Given the description of an element on the screen output the (x, y) to click on. 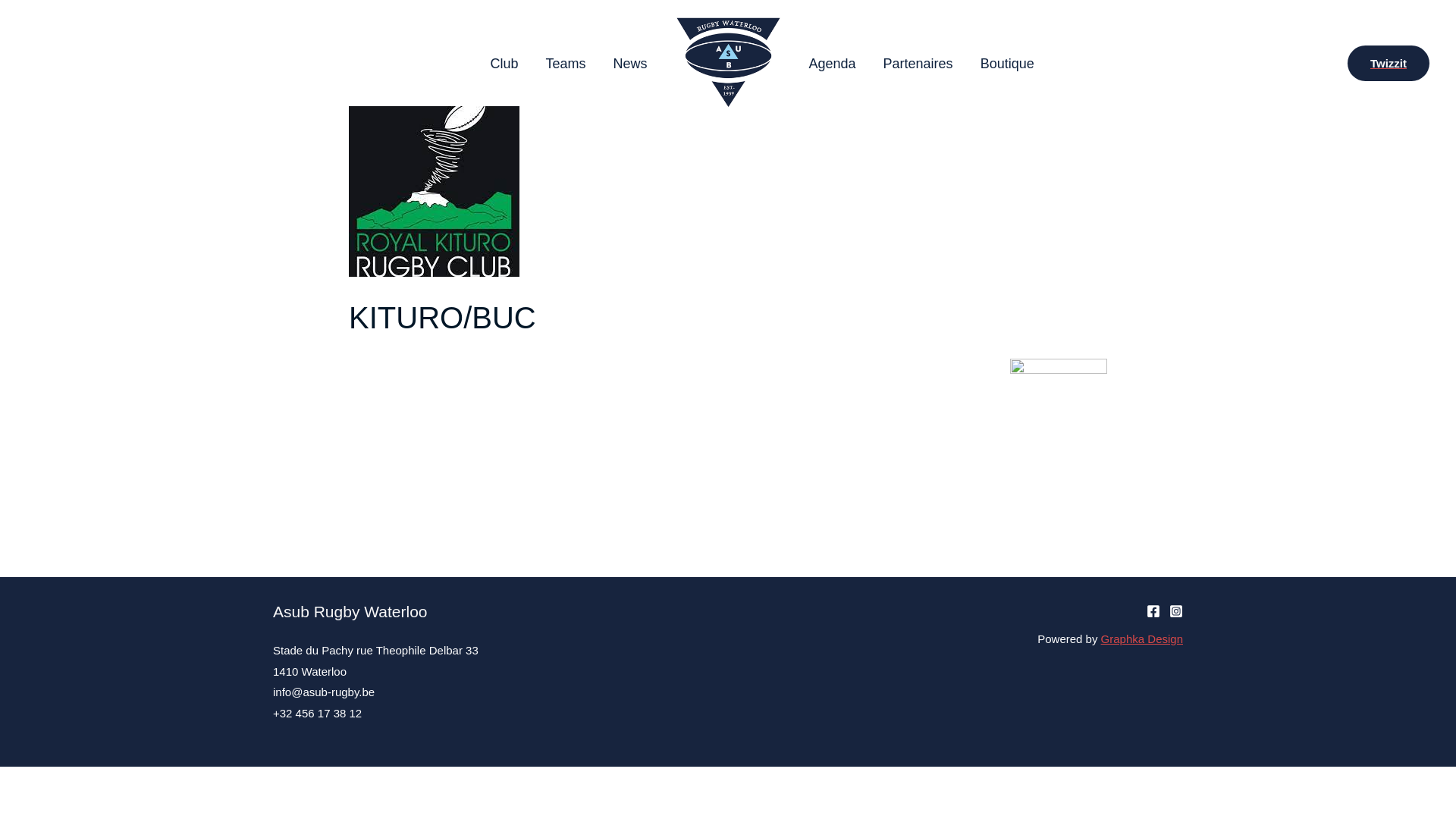
Graphka Design Element type: text (1142, 638)
Partenaires Element type: text (917, 62)
Club Element type: text (503, 62)
News Element type: text (629, 62)
Twizzit Element type: text (1388, 63)
Teams Element type: text (565, 62)
Agenda Element type: text (831, 62)
Boutique Element type: text (1007, 62)
